Given the description of an element on the screen output the (x, y) to click on. 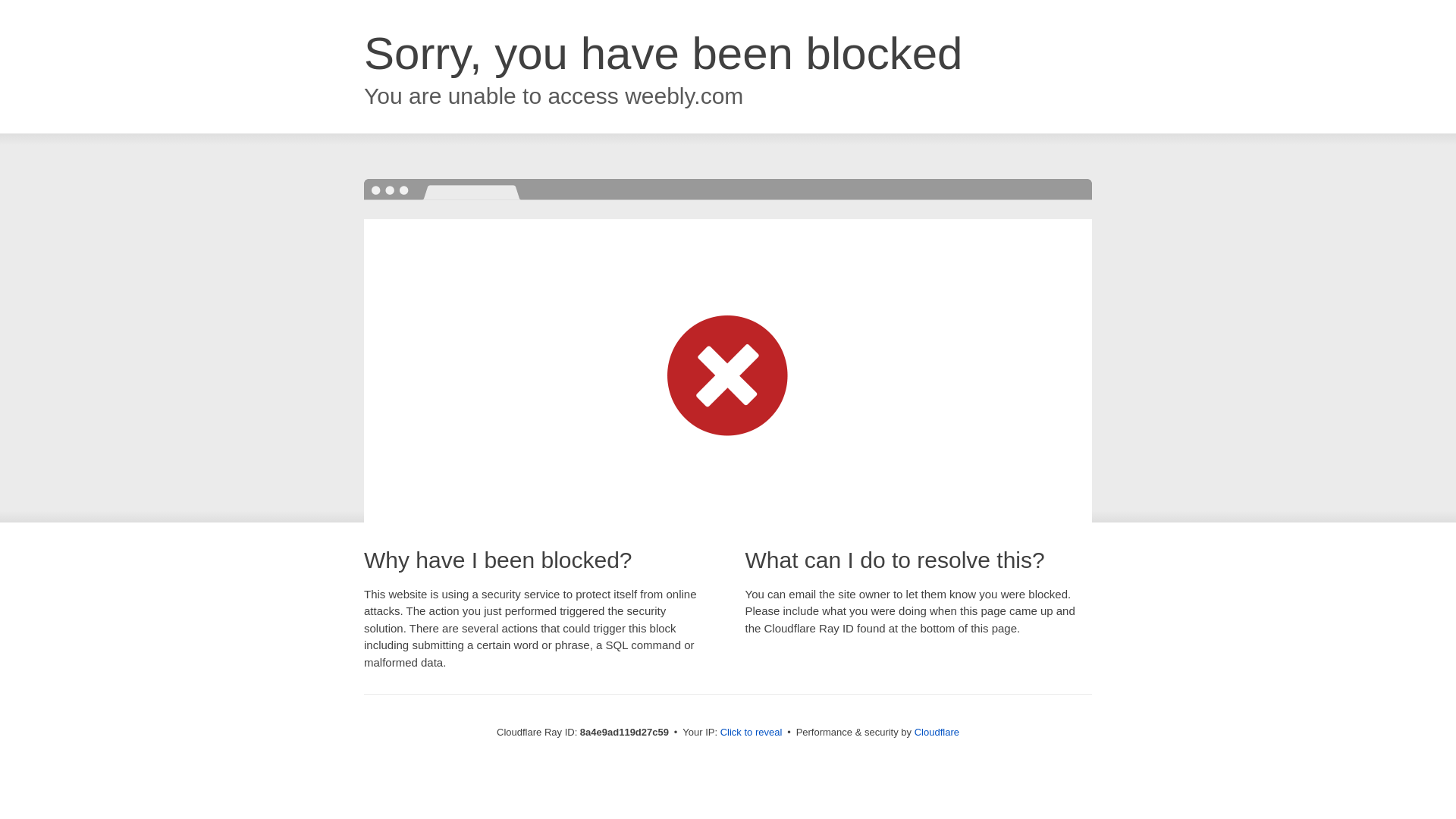
Cloudflare (936, 731)
Click to reveal (751, 732)
